Given the description of an element on the screen output the (x, y) to click on. 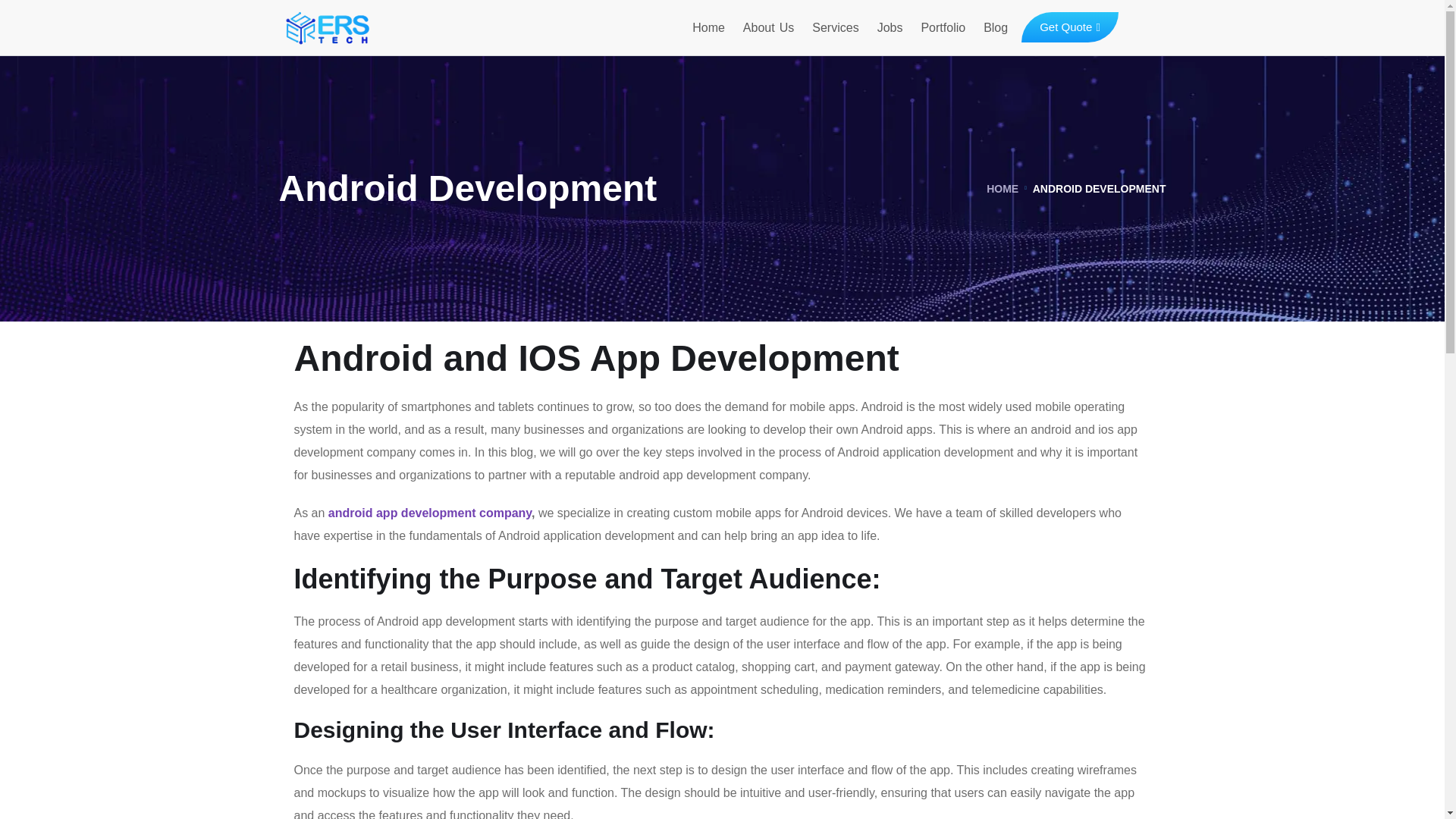
android app development company (430, 512)
Portfolio (942, 27)
Home (709, 27)
About Us (767, 27)
Get Quote (1070, 27)
HOME (1002, 188)
Services (835, 27)
